Given the description of an element on the screen output the (x, y) to click on. 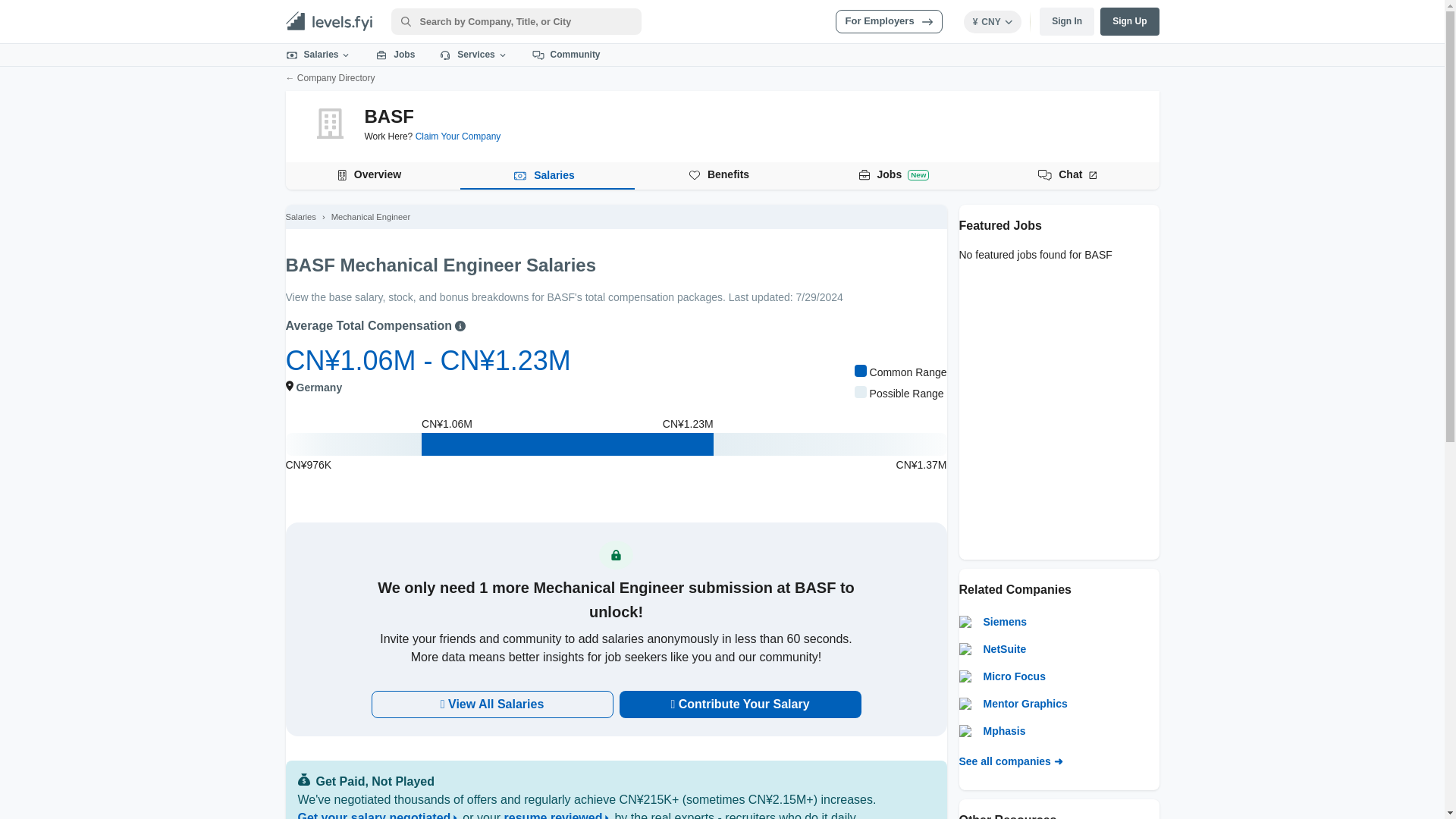
Sign In (1066, 21)
Sign Up (721, 175)
For Employers (1129, 21)
Salaries (888, 21)
